Given the description of an element on the screen output the (x, y) to click on. 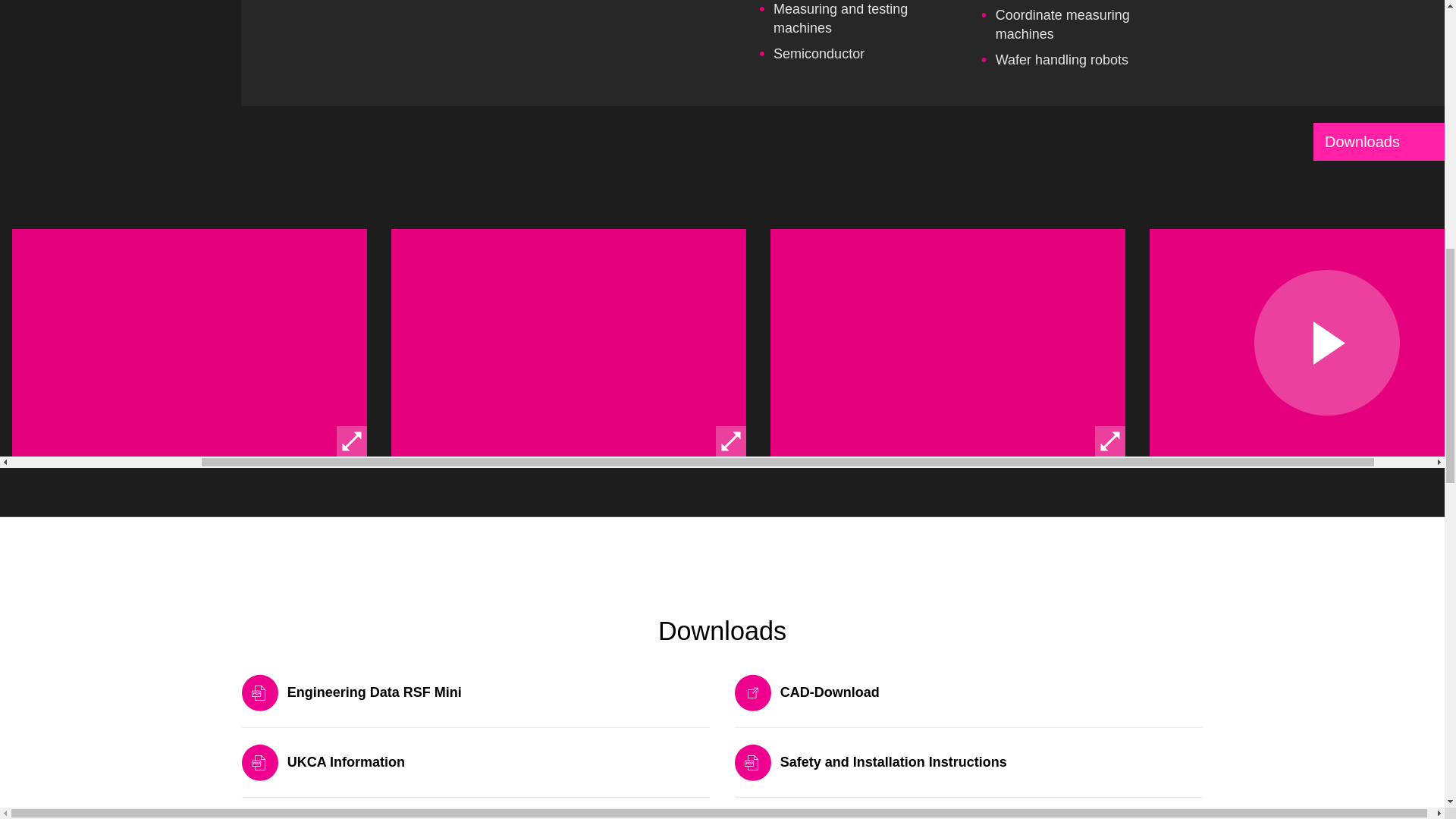
CAD-Download (969, 705)
Safety and Installation Instructions (969, 774)
UKCA Information (475, 774)
Engineering Data RSF Mini (475, 705)
